Given the description of an element on the screen output the (x, y) to click on. 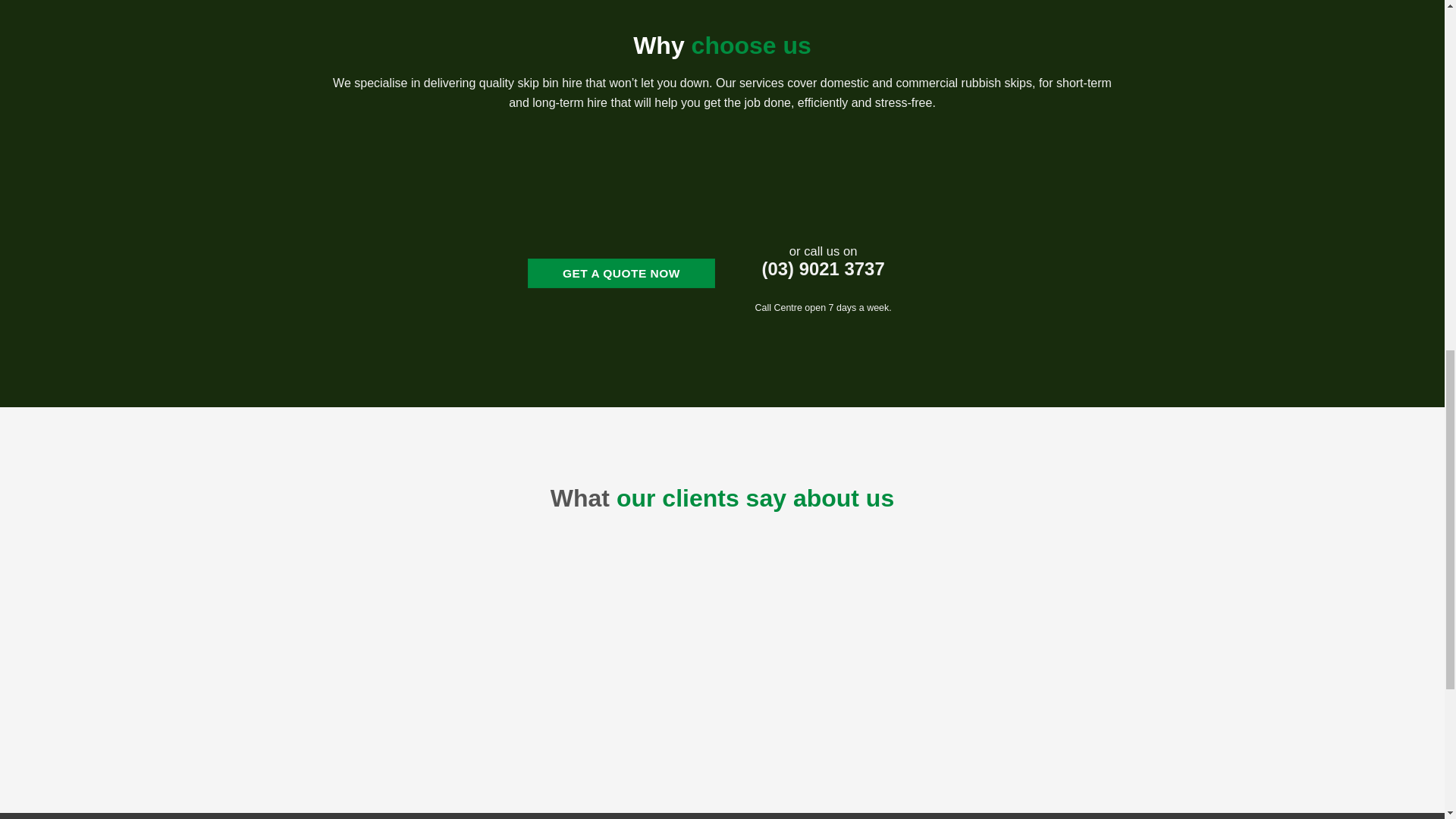
GET A QUOTE NOW (620, 273)
